Given the description of an element on the screen output the (x, y) to click on. 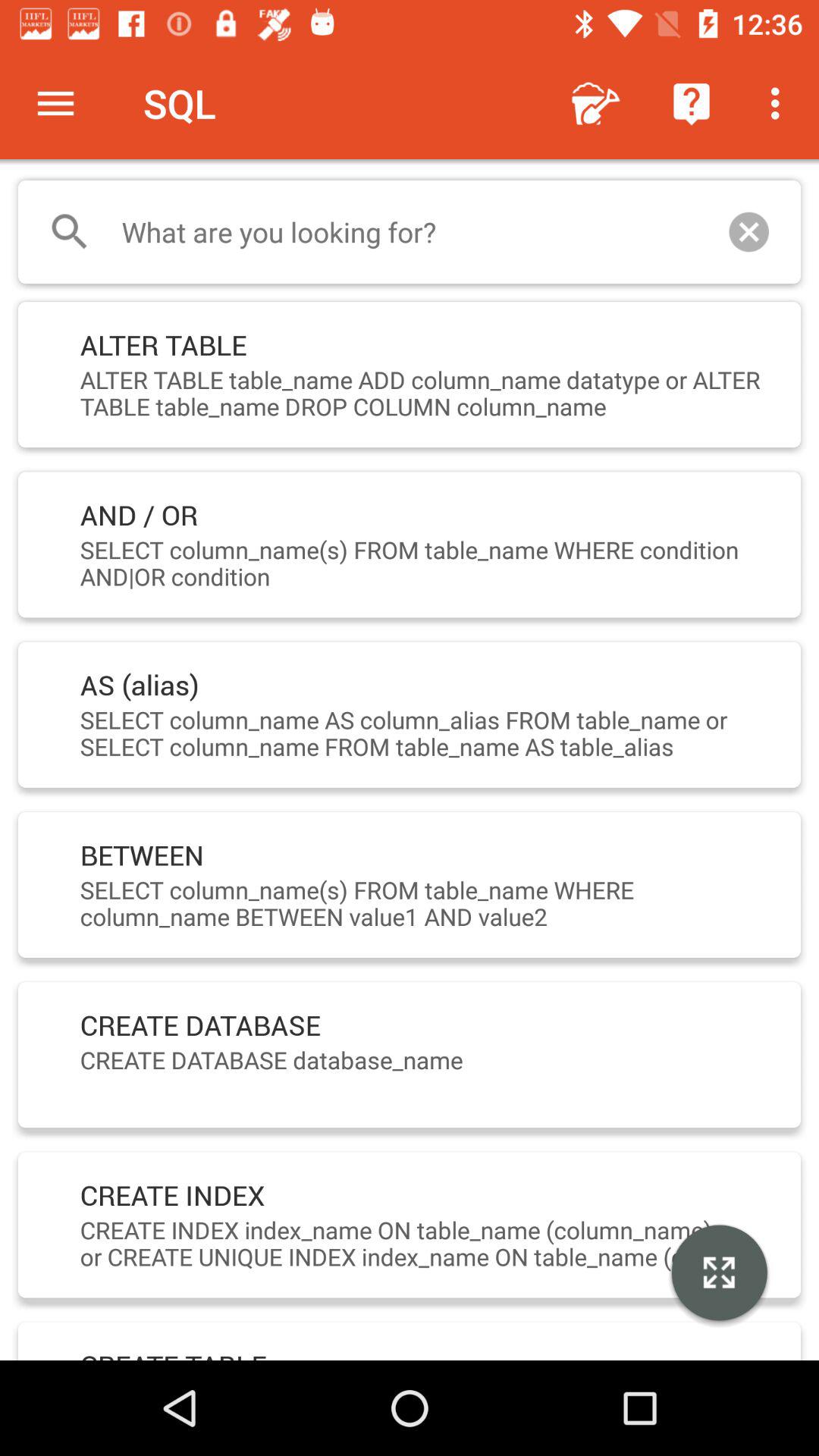
choose item to the left of the sql icon (55, 103)
